Given the description of an element on the screen output the (x, y) to click on. 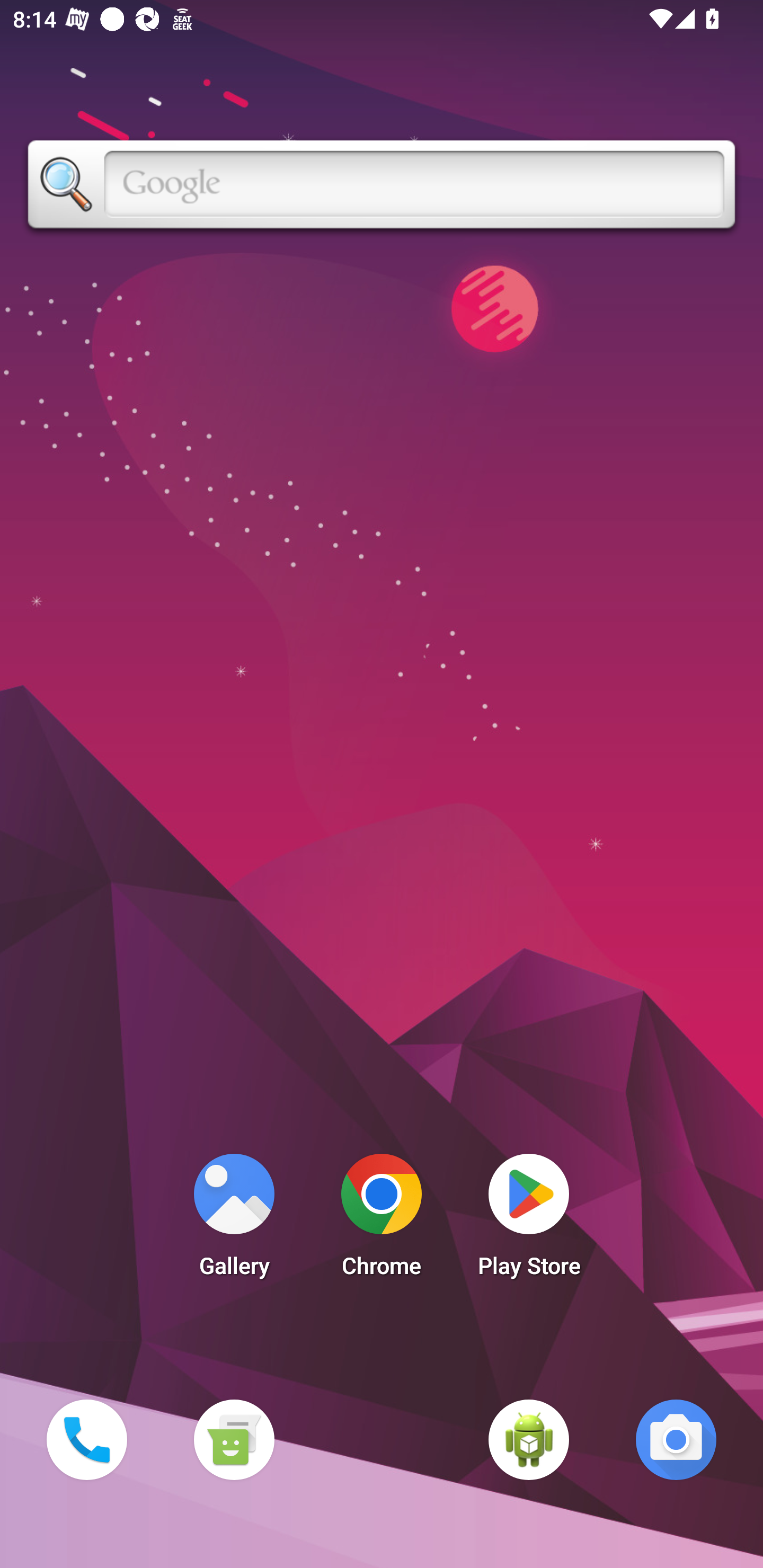
Gallery (233, 1220)
Chrome (381, 1220)
Play Store (528, 1220)
Phone (86, 1439)
Messaging (233, 1439)
WebView Browser Tester (528, 1439)
Camera (676, 1439)
